Given the description of an element on the screen output the (x, y) to click on. 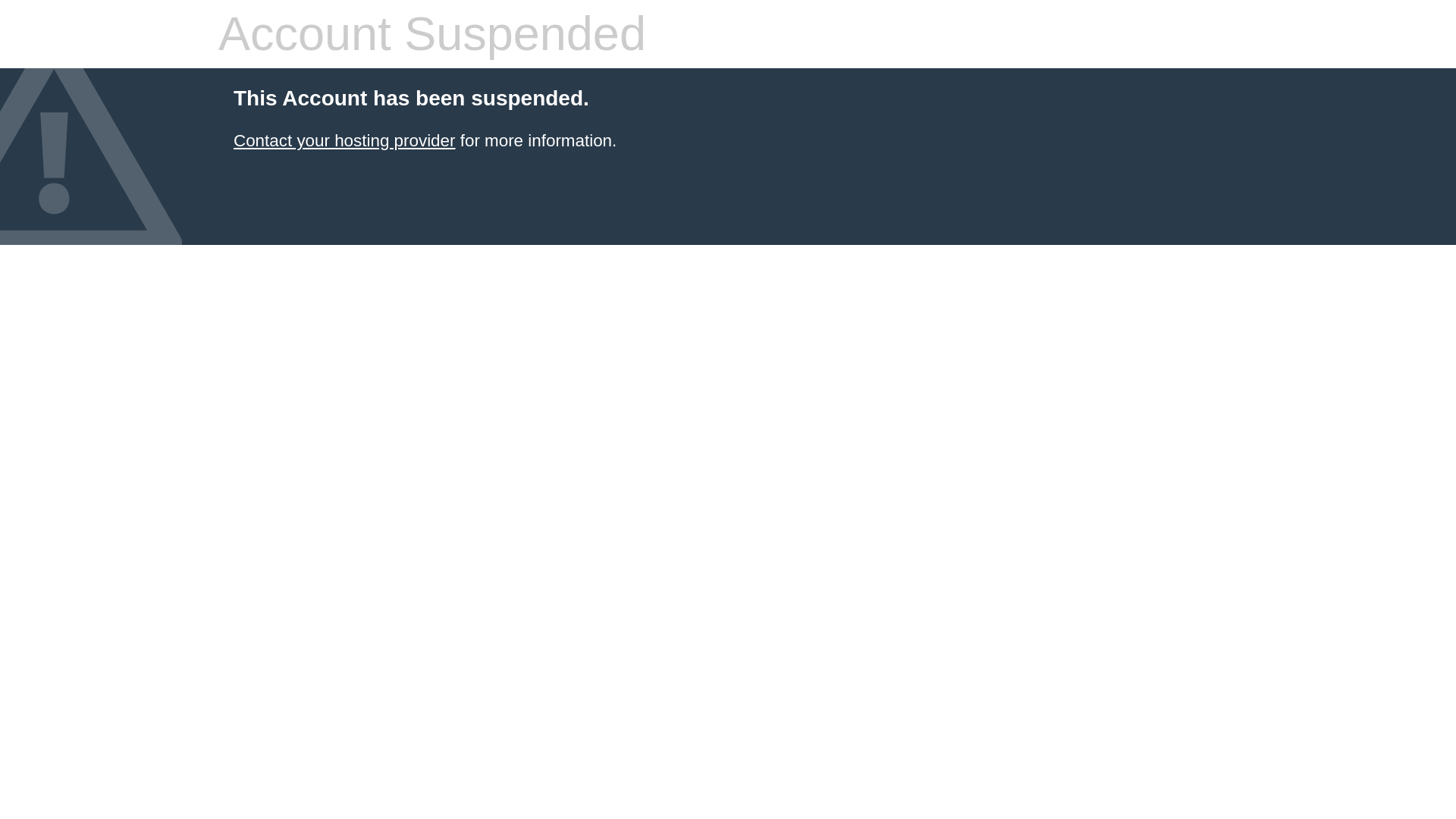
Contact your hosting provider (343, 140)
